Given the description of an element on the screen output the (x, y) to click on. 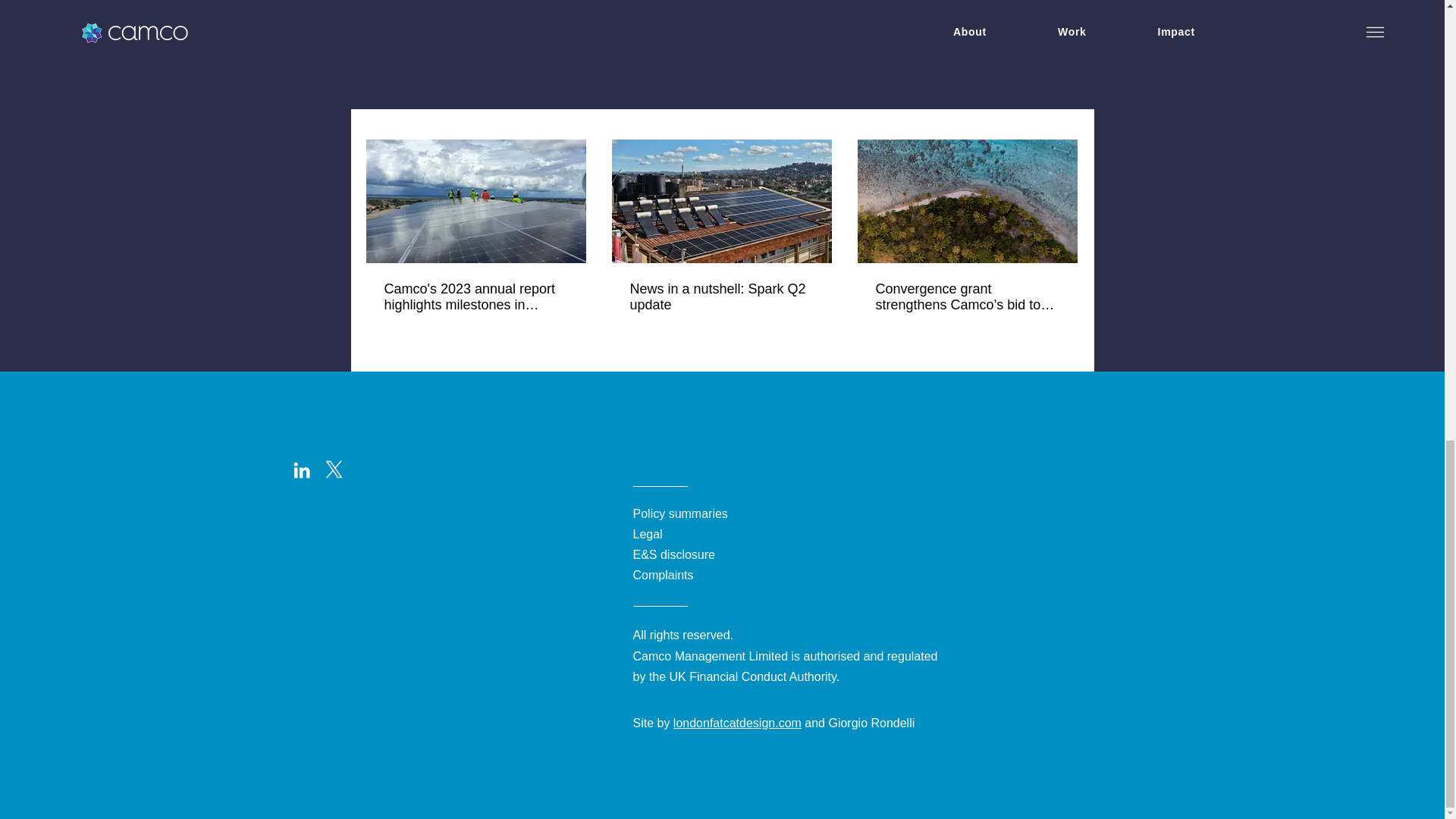
and Giorgio Rondelli (858, 722)
Policy summaries (678, 513)
Legal (646, 533)
News in a nutshell: Spark Q2 update (720, 296)
londonfatcatdesign.com (737, 722)
Complaints (662, 574)
